Given the description of an element on the screen output the (x, y) to click on. 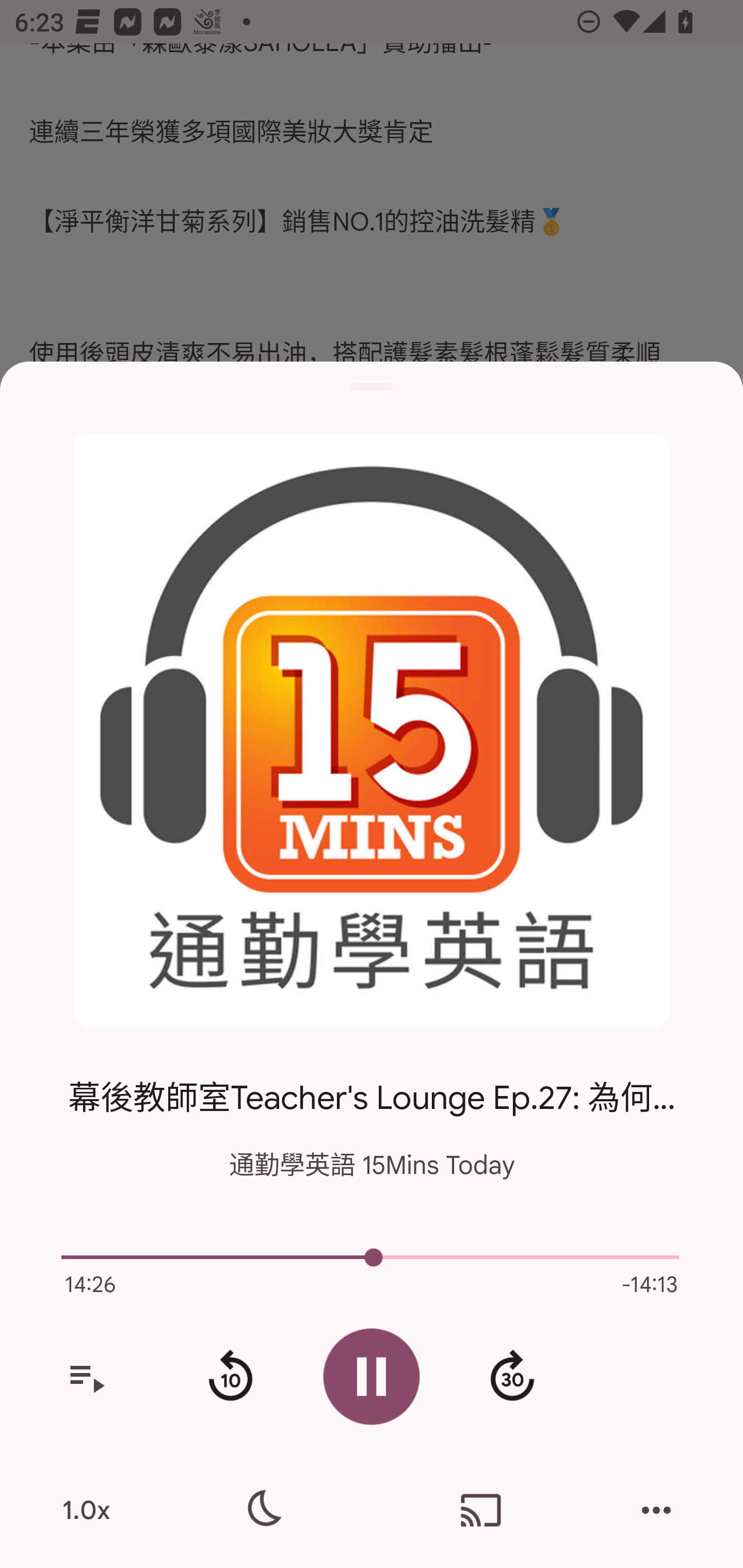
Open the show page for 通勤學英語 15Mins Today (371, 731)
5038.0 Current episode playback (371, 1257)
Pause (371, 1376)
View your queue (86, 1376)
Rewind 10 seconds (230, 1376)
Fast forward 30 second (511, 1376)
1.0x Playback speed is 1.0. (86, 1510)
Sleep timer settings (261, 1510)
Cast. Disconnected (480, 1510)
More actions (655, 1510)
